Given the description of an element on the screen output the (x, y) to click on. 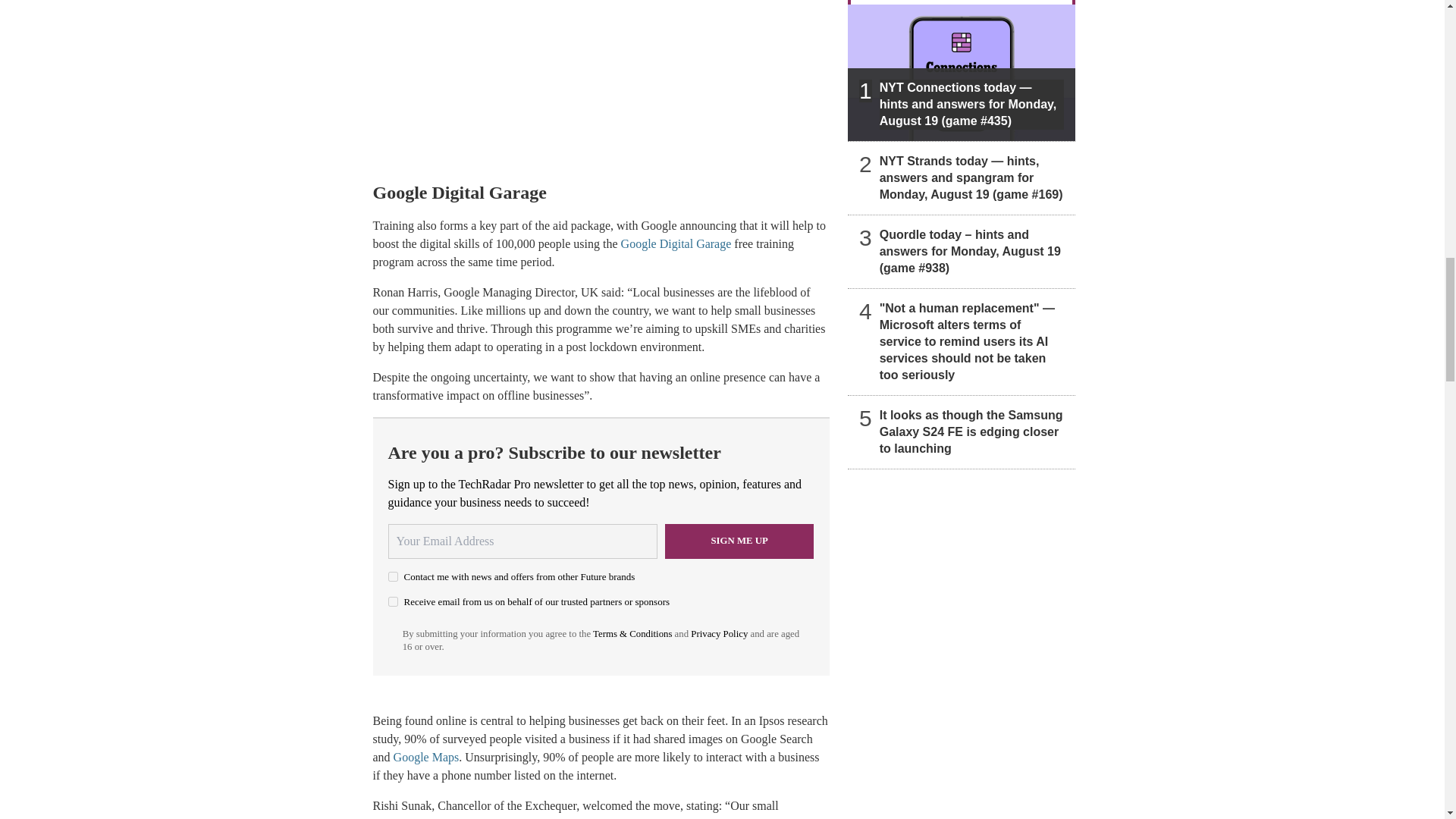
on (392, 601)
on (392, 576)
Sign me up (739, 541)
